Given the description of an element on the screen output the (x, y) to click on. 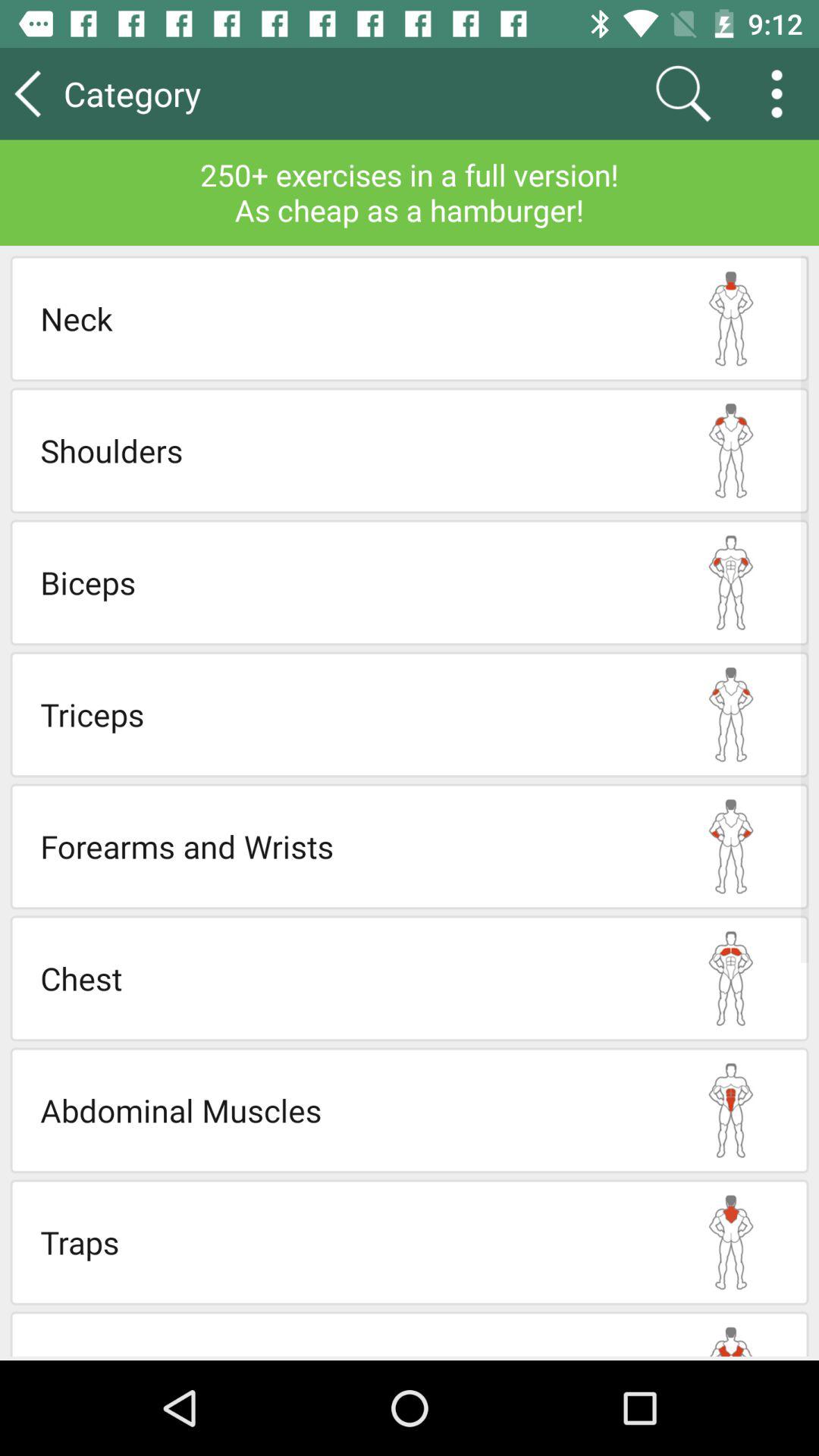
turn on the neck (346, 318)
